Given the description of an element on the screen output the (x, y) to click on. 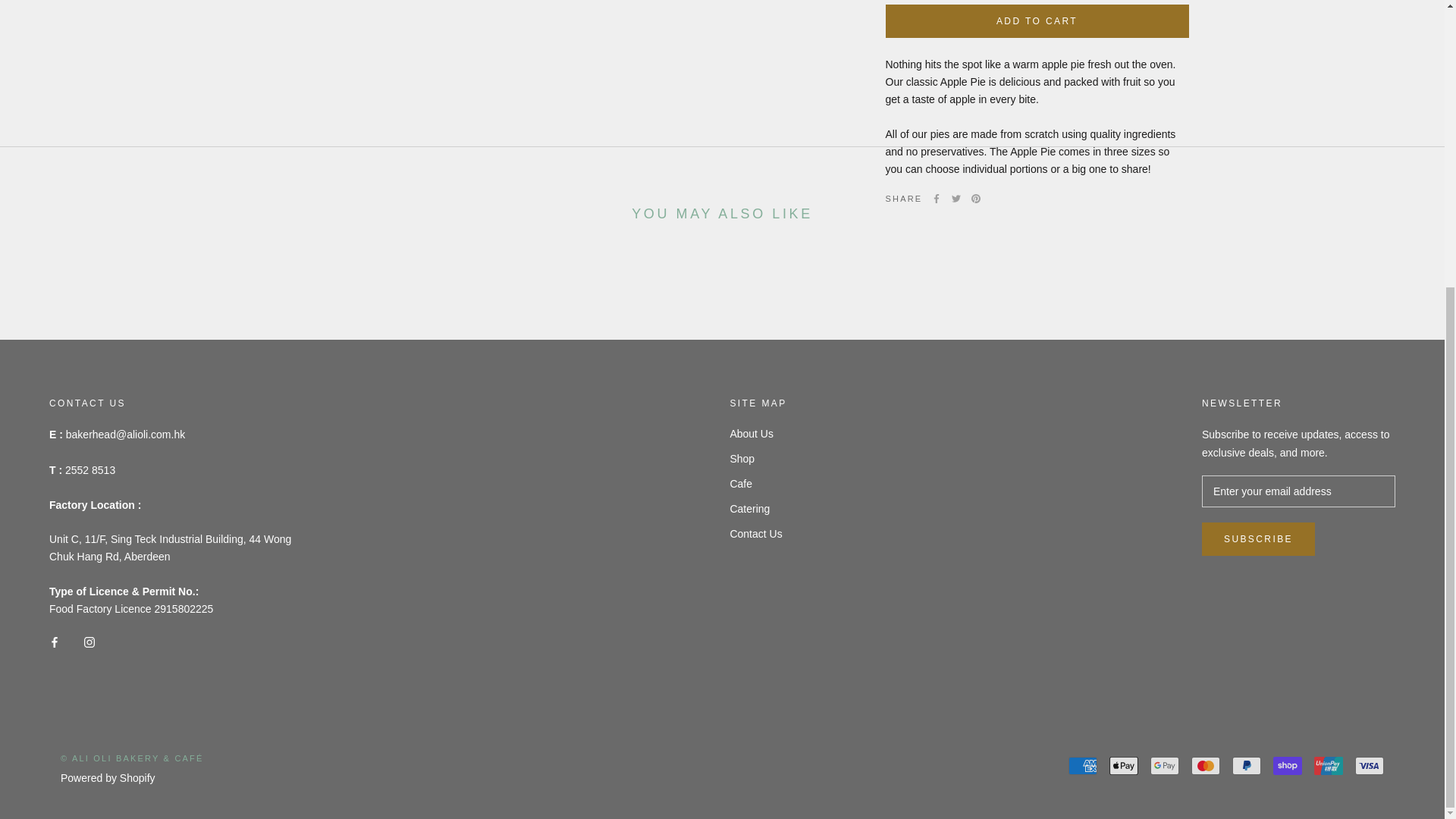
Shop Pay (1286, 765)
Union Pay (1328, 765)
American Express (1082, 765)
Apple Pay (1123, 765)
PayPal (1245, 765)
Visa (1369, 765)
Google Pay (1164, 765)
Mastercard (1205, 765)
